Given the description of an element on the screen output the (x, y) to click on. 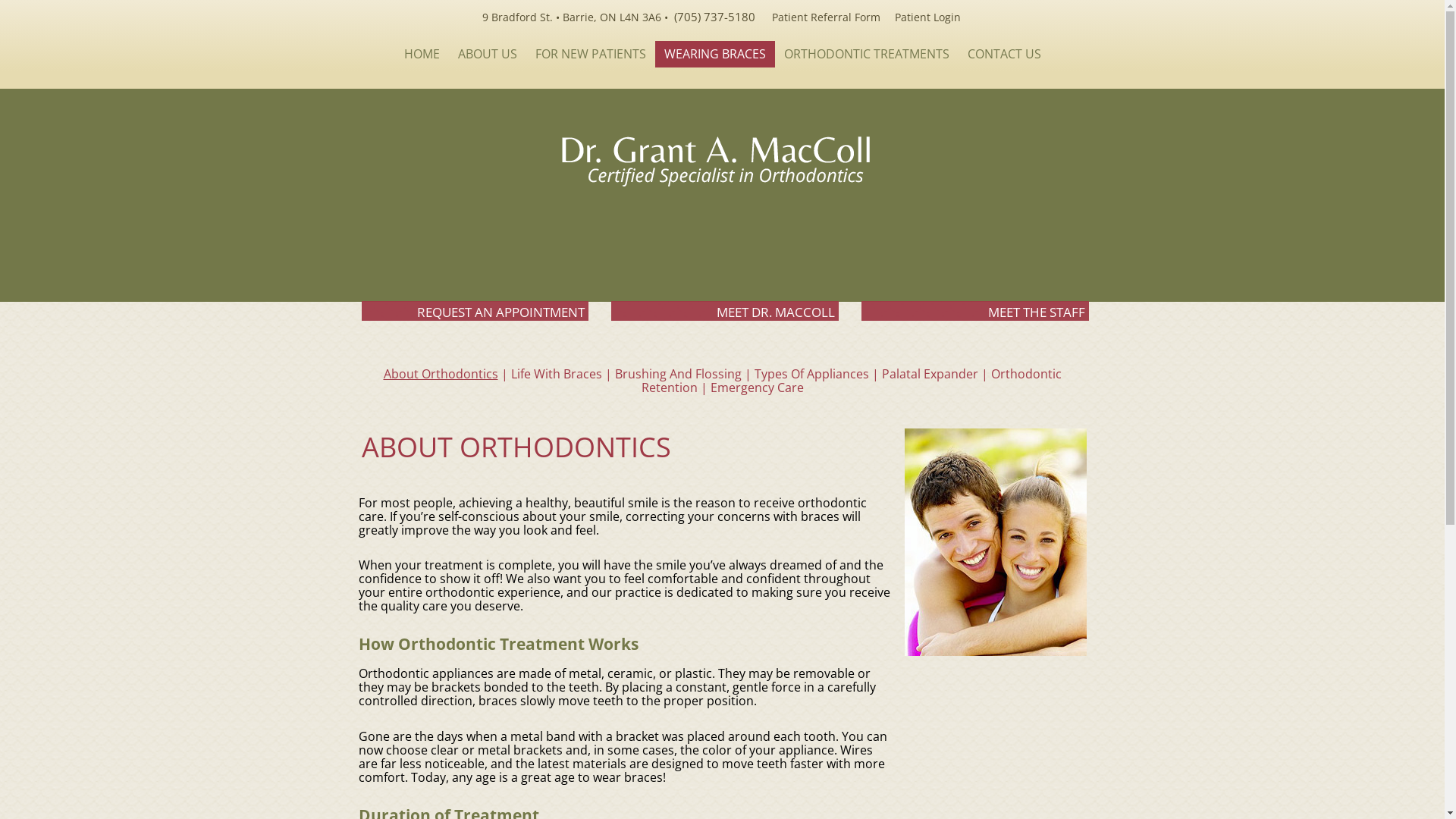
HOME Element type: text (421, 53)
About Orthodontics Element type: text (440, 373)
Patient Login Element type: text (927, 17)
Emergency Care Element type: text (756, 387)
ORTHODONTIC TREATMENTS Element type: text (866, 53)
Brushing And Flossing Element type: text (677, 373)
FOR NEW PATIENTS Element type: text (590, 53)
Life With Braces Element type: text (556, 373)
MEET DR. MACCOLL Element type: text (724, 310)
ABOUT US Element type: text (487, 53)
REQUEST AN APPOINTMENT Element type: text (474, 310)
CONTACT US Element type: text (1004, 53)
WEARING BRACES Element type: text (715, 53)
Patient Referral Form Element type: text (825, 17)
MEET THE STAFF Element type: text (975, 310)
Palatal Expander Element type: text (929, 373)
Orthodontic Retention Element type: text (851, 380)
Types Of Appliances Element type: text (810, 373)
